Given the description of an element on the screen output the (x, y) to click on. 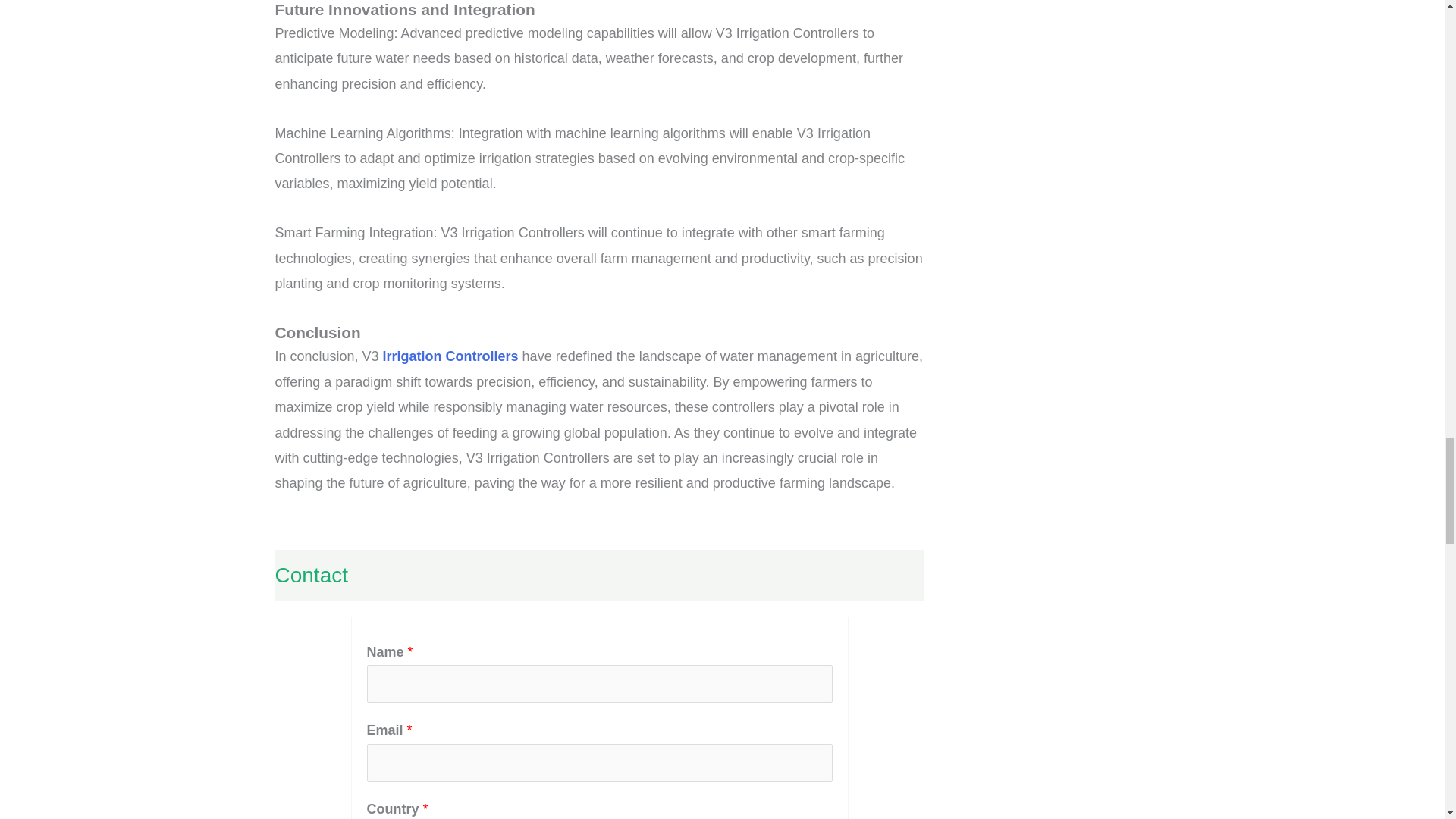
Irrigation Controllers (450, 355)
